Given the description of an element on the screen output the (x, y) to click on. 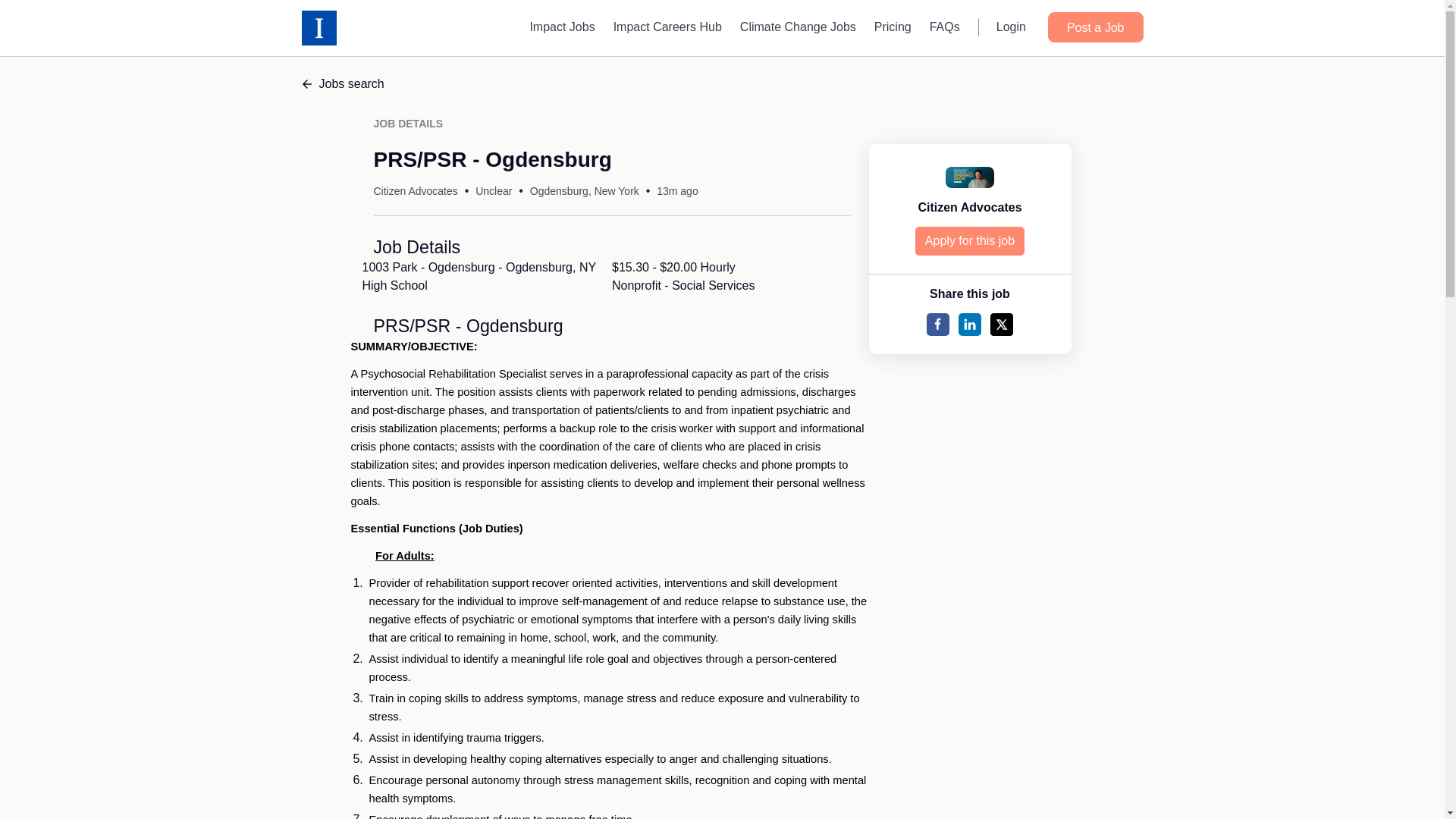
Jobs search (721, 84)
Pricing (892, 26)
FAQs (944, 26)
Login (1011, 26)
Apply for this job (970, 240)
Impact Jobs (561, 26)
Impact Careers Hub (667, 26)
Post a Job (1095, 27)
Share to Twitter (1001, 323)
Share to FB (937, 323)
Climate Change Jobs (797, 26)
Ogdensburg, New York (584, 191)
Unclear (494, 191)
Share to Linkedin (969, 323)
Citizen Advocates (414, 191)
